Given the description of an element on the screen output the (x, y) to click on. 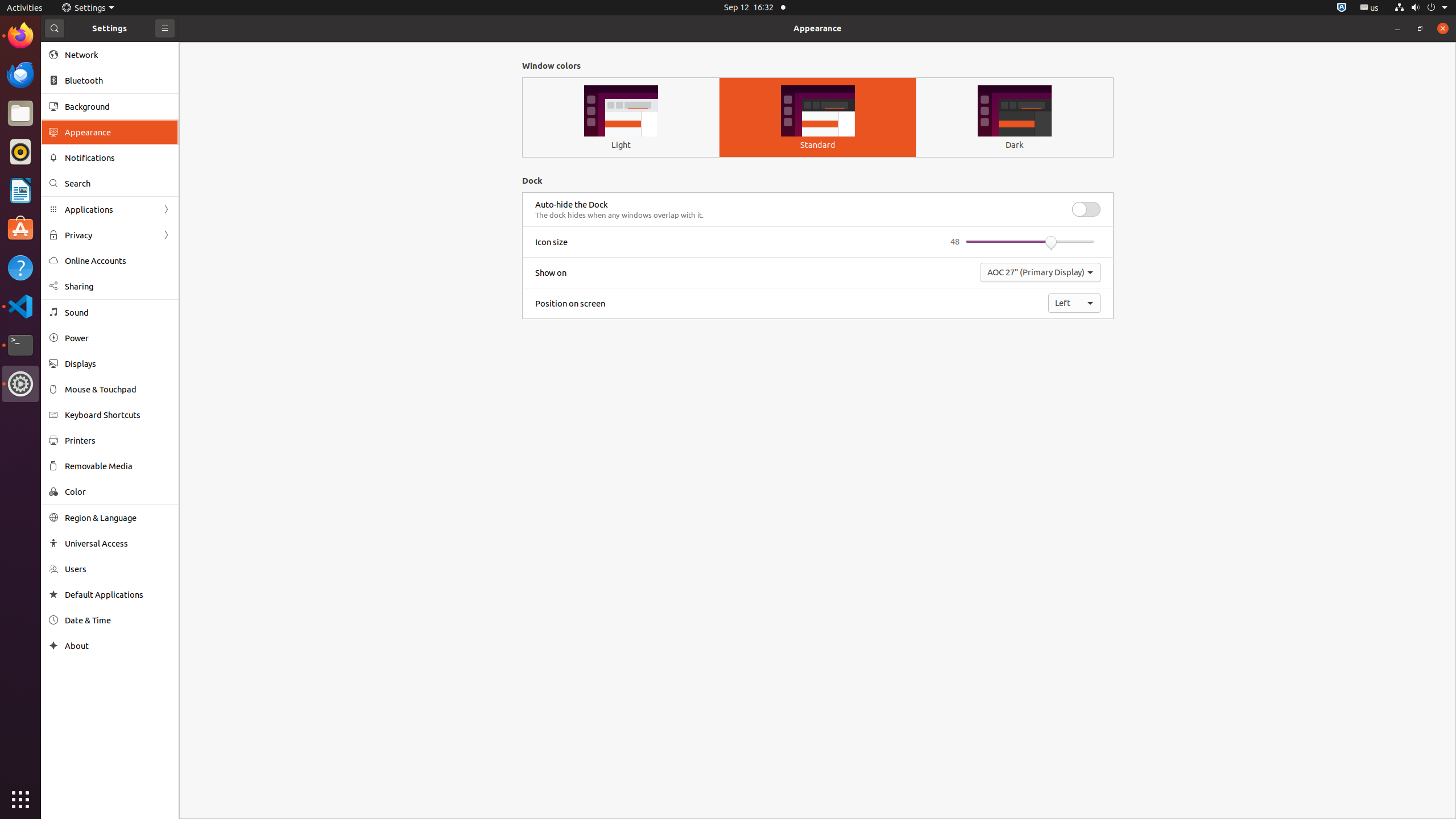
Restore Element type: push-button (1419, 27)
Default Applications Element type: label (117, 594)
Background Element type: label (117, 106)
About Element type: label (117, 645)
